Given the description of an element on the screen output the (x, y) to click on. 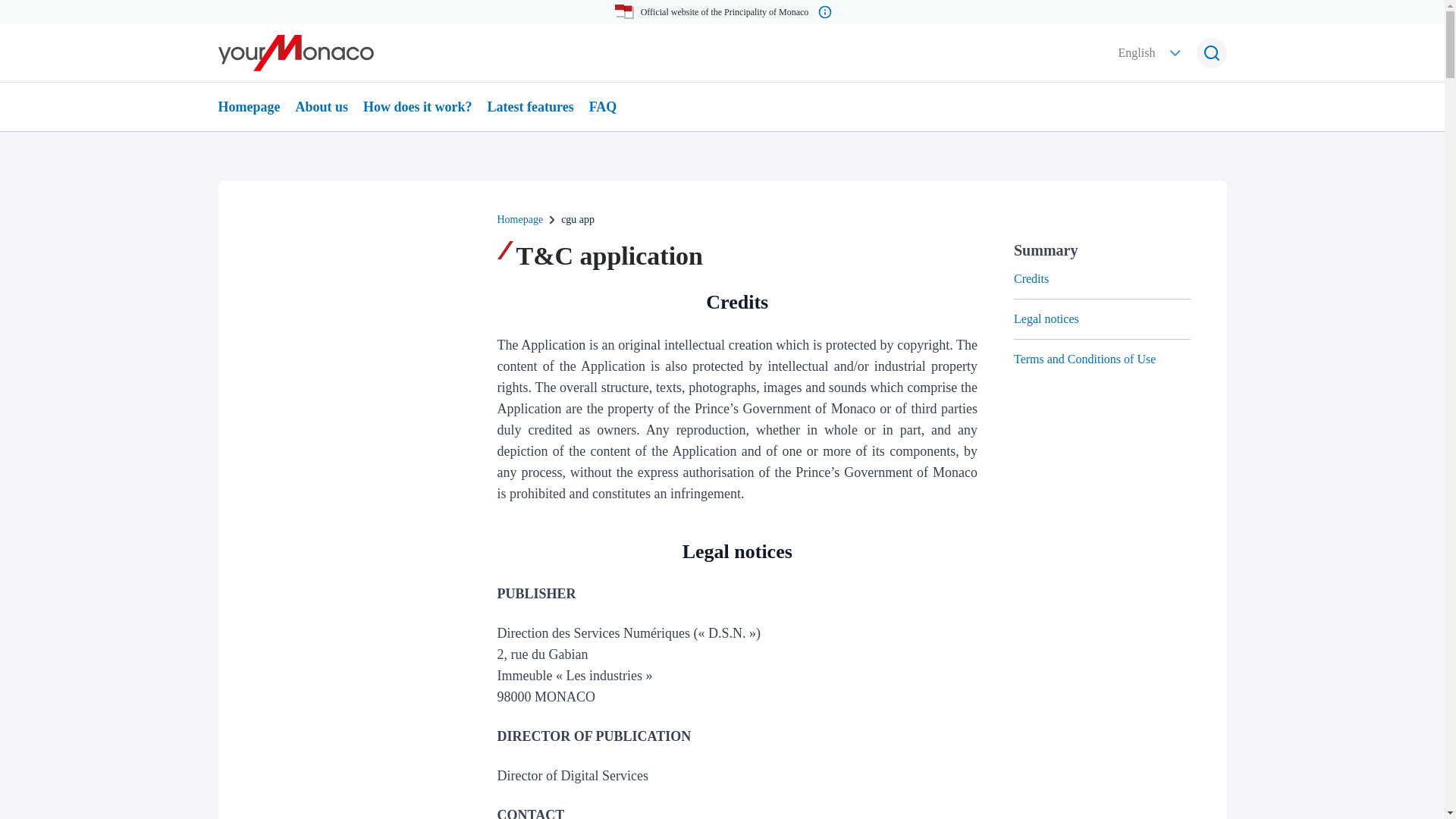
Your Monaco - The app that knows your city (296, 53)
Homepage (520, 219)
Back to Homepage (296, 53)
